Given the description of an element on the screen output the (x, y) to click on. 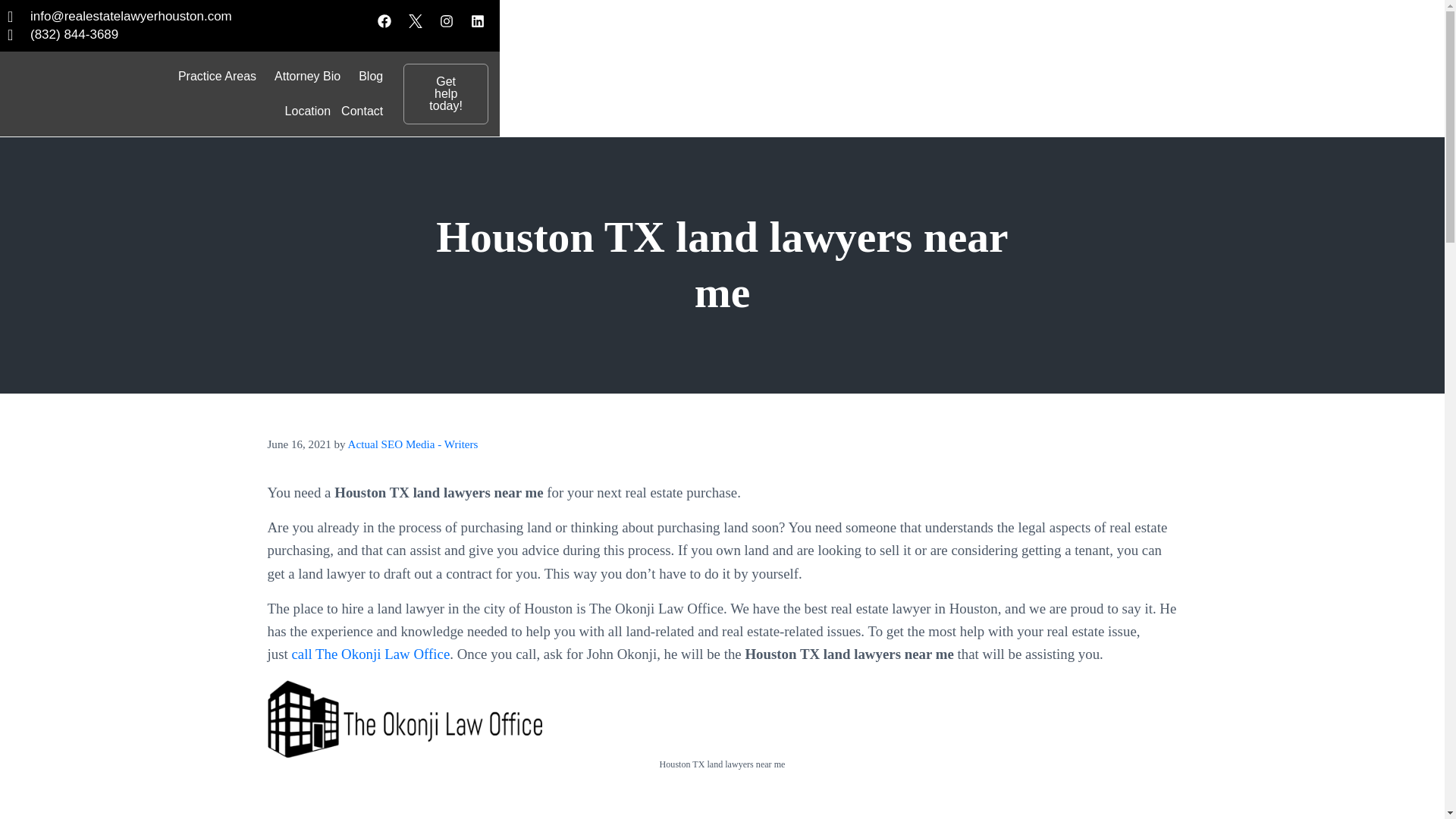
Contact (362, 111)
Get help today! (445, 93)
Practice Areas (221, 76)
Attorney Bio (311, 76)
call The Okonji Law Office (370, 653)
Blog (370, 76)
Actual SEO Media - Writers (413, 444)
Location (307, 111)
